Given the description of an element on the screen output the (x, y) to click on. 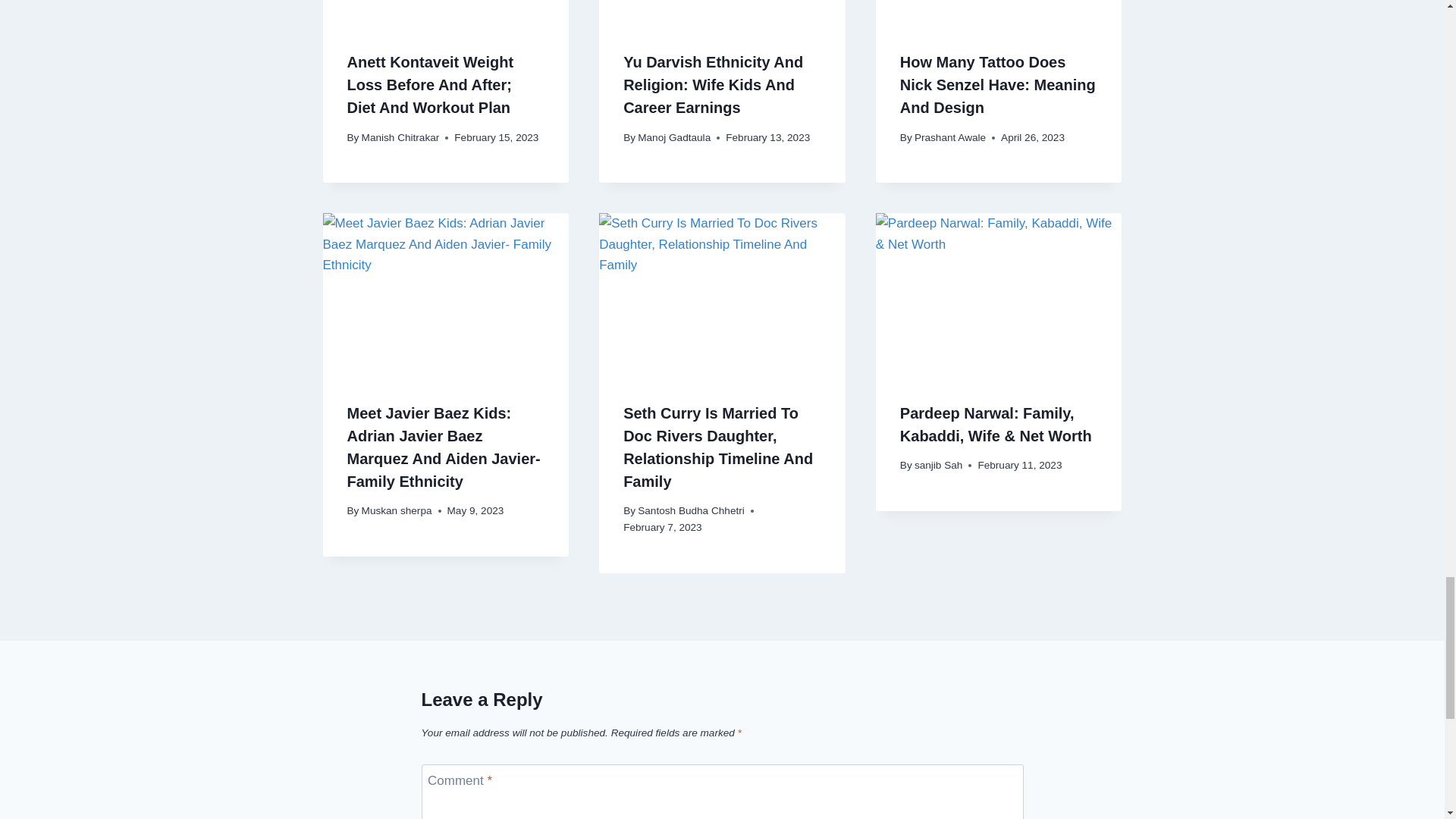
How Many Tattoo Does Nick Senzel Have: Meaning And Design (997, 85)
How Many Tattoo Does Nick Senzel Have: Meaning And Design (999, 13)
Prashant Awale (949, 137)
Manoj Gadtaula (673, 137)
Manish Chitrakar (400, 137)
